Given the description of an element on the screen output the (x, y) to click on. 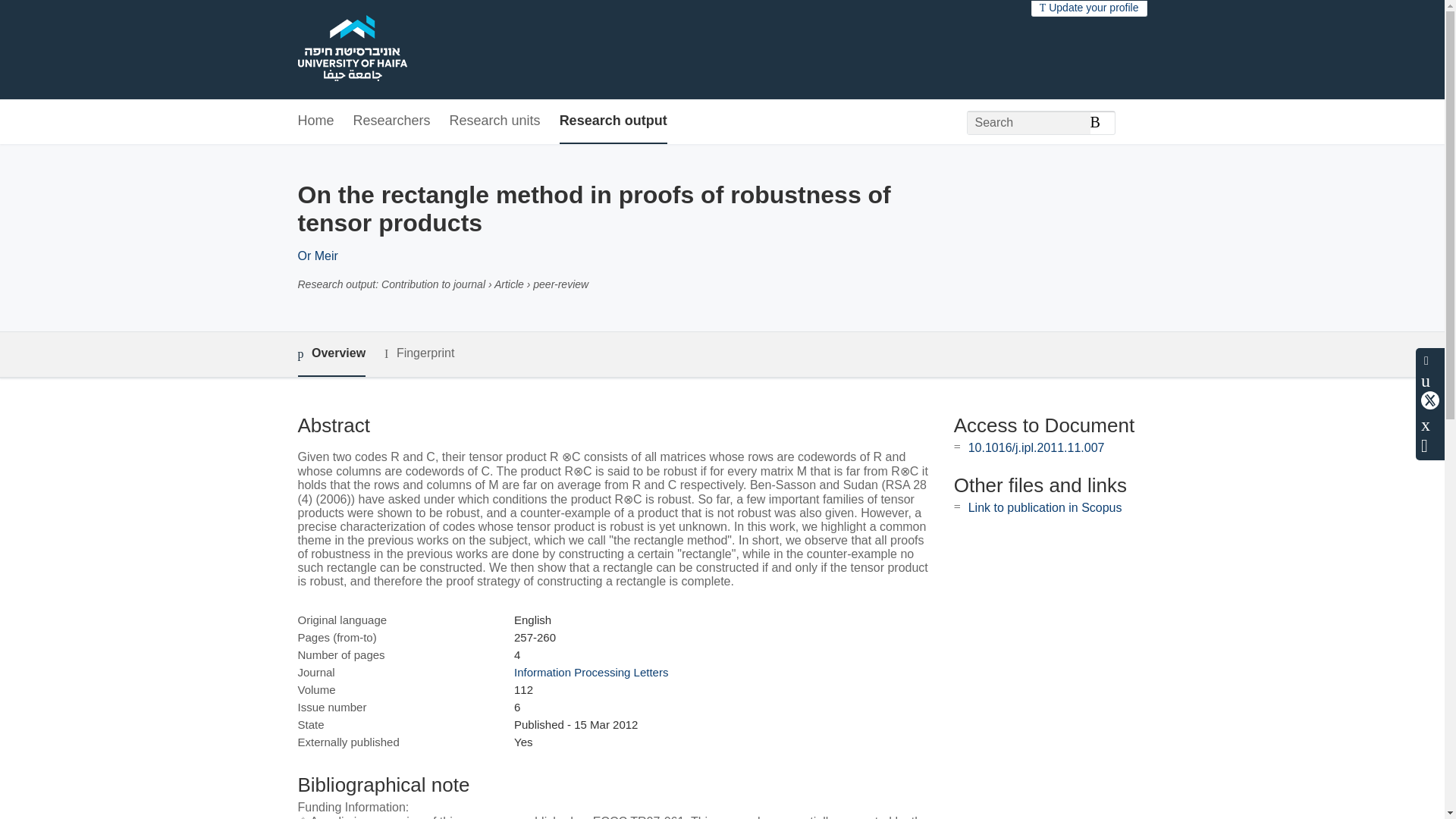
Fingerprint (419, 353)
Research units (494, 121)
Link to publication in Scopus (1045, 507)
Information Processing Letters (590, 671)
Or Meir (317, 255)
Overview (331, 354)
Update your profile (1089, 7)
Home (315, 121)
Research output (612, 121)
Researchers (391, 121)
University of Haifa Home (351, 49)
